Given the description of an element on the screen output the (x, y) to click on. 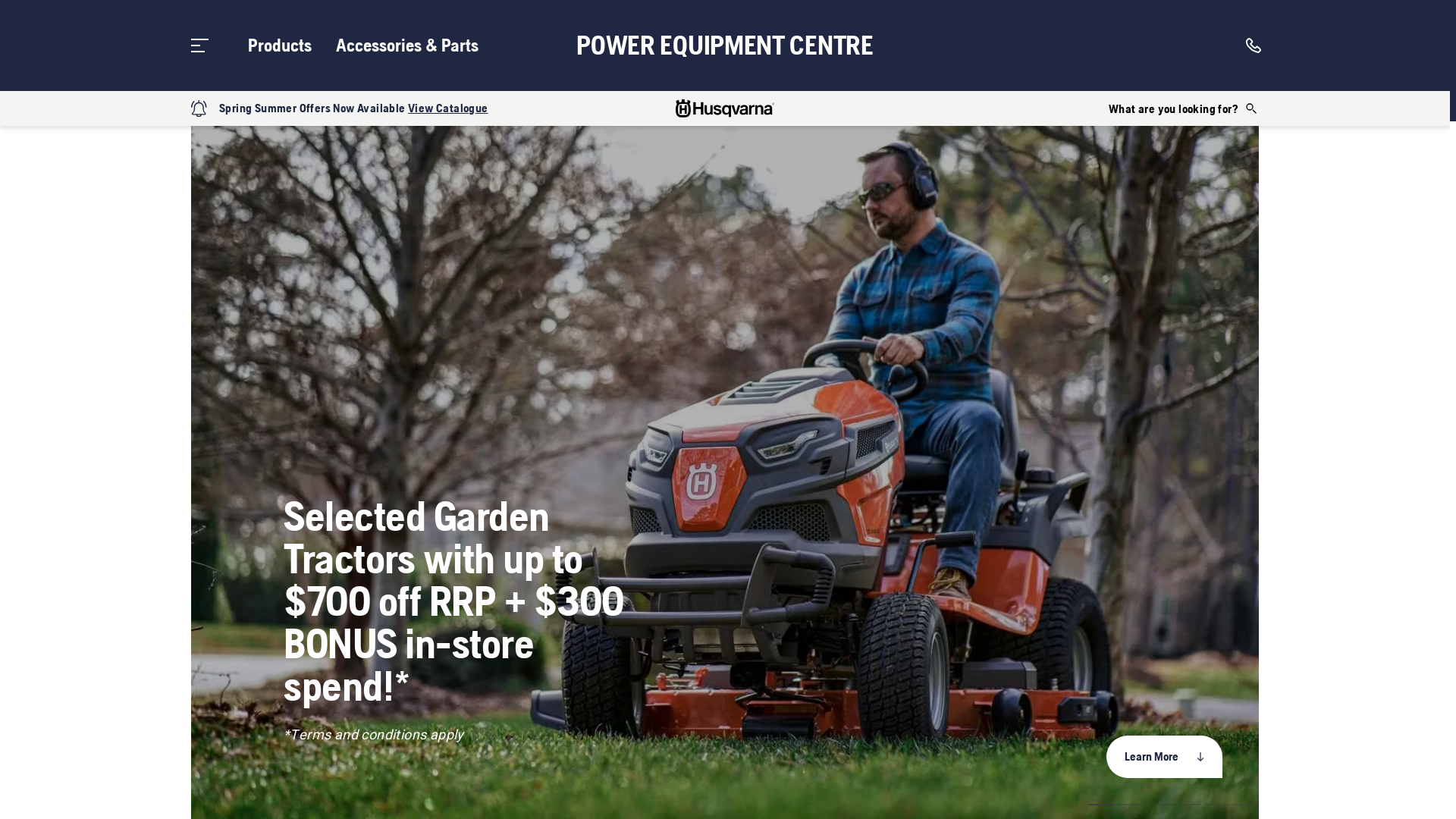
What are you looking for? Element type: text (1183, 108)
Learn More Element type: text (1164, 756)
Accessories & Parts Element type: text (406, 45)
POWER EQUIPMENT CENTRE Element type: text (724, 45)
Products Element type: text (279, 45)
View Catalogue Element type: text (447, 107)
